Given the description of an element on the screen output the (x, y) to click on. 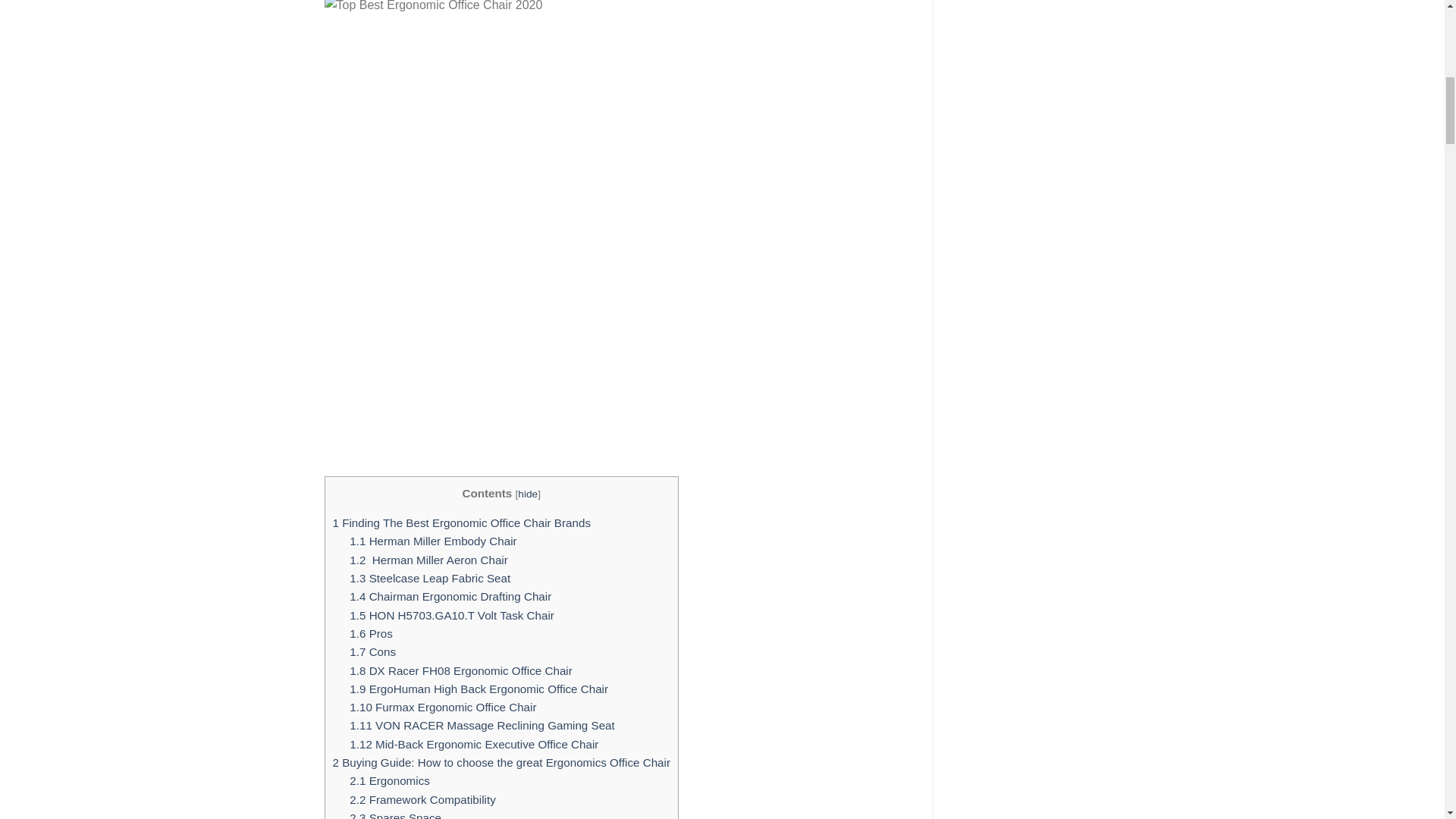
2.3 Spares Space (395, 815)
1.2  Herman Miller Aeron Chair (428, 559)
1.3 Steelcase Leap Fabric Seat (430, 577)
1.9 ErgoHuman High Back Ergonomic Office Chair (478, 688)
hide (527, 493)
1.5 HON H5703.GA10.T Volt Task Chair (451, 615)
1.4 Chairman Ergonomic Drafting Chair (450, 595)
1.12 Mid-Back Ergonomic Executive Office Chair (473, 744)
1.1 Herman Miller Embody Chair (432, 540)
1.7 Cons (372, 651)
